Given the description of an element on the screen output the (x, y) to click on. 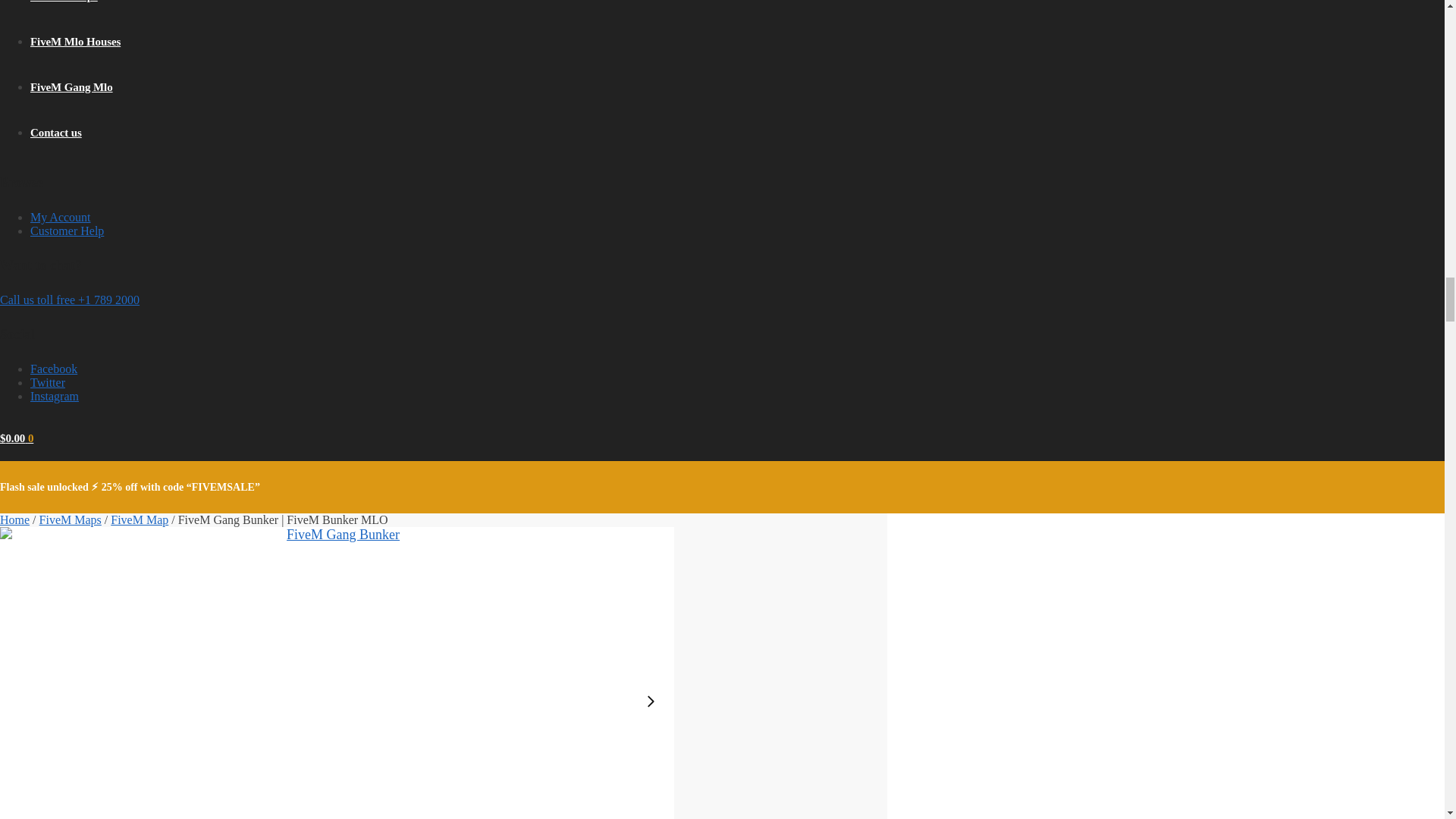
Instagram (54, 395)
Customer Help (66, 230)
Facebook (53, 368)
My Account (60, 216)
FiveM Mlo Houses (75, 41)
FiveM Ymaps (63, 1)
Home (14, 519)
View your shopping cart (16, 438)
FiveM Map (139, 519)
Twitter (47, 382)
Contact us (55, 132)
FiveM Maps (70, 519)
FiveM Gang Mlo (71, 87)
